Given the description of an element on the screen output the (x, y) to click on. 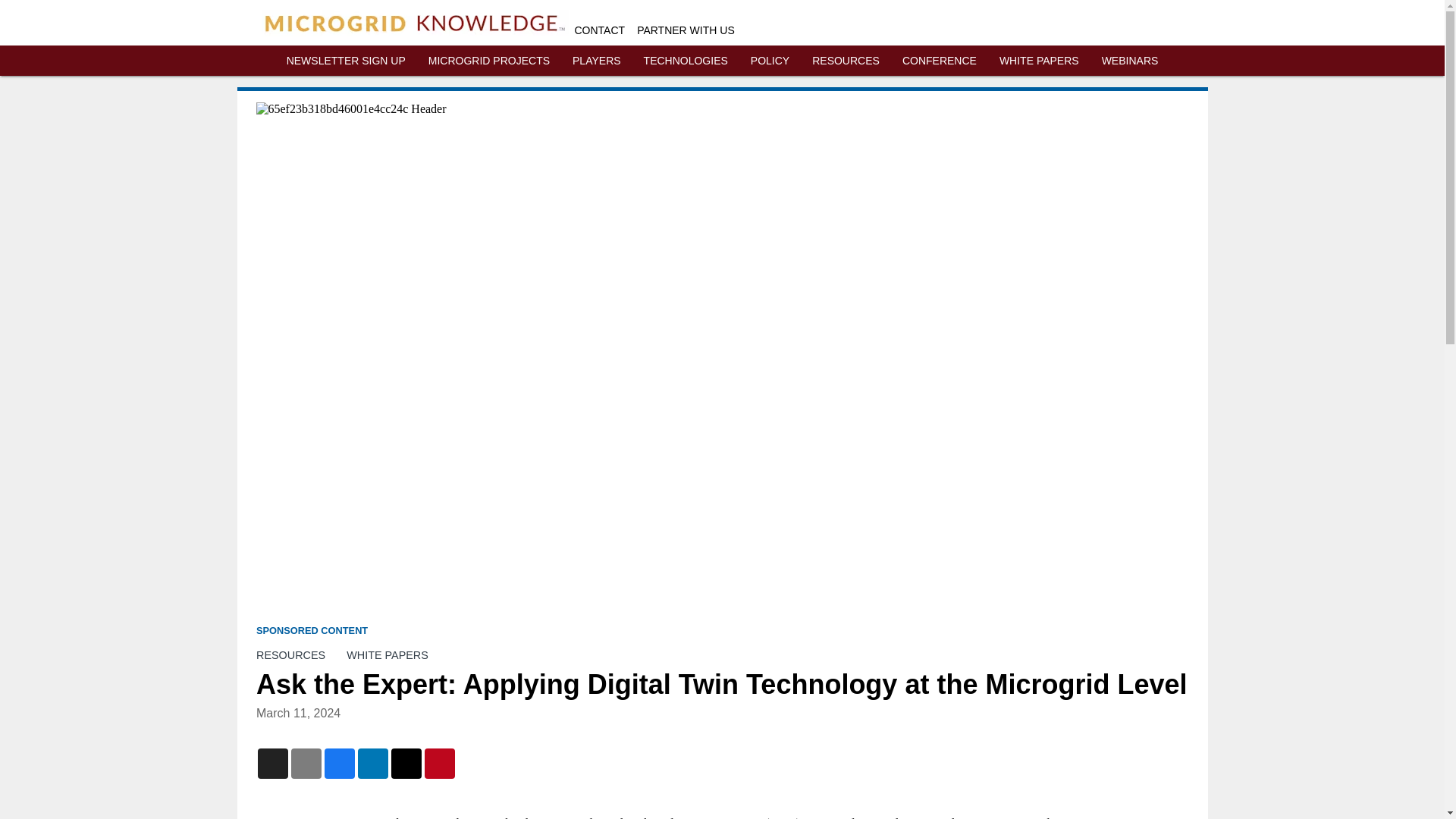
NEWSLETTER SIGN UP (346, 60)
PLAYERS (596, 60)
CONFERENCE (939, 60)
RESOURCES (845, 60)
RESOURCES (290, 654)
CONTACT (600, 30)
POLICY (770, 60)
WEBINARS (1130, 60)
PARTNER WITH US (686, 30)
WHITE PAPERS (1038, 60)
MICROGRID PROJECTS (489, 60)
WHITE PAPERS (387, 654)
TECHNOLOGIES (685, 60)
